Given the description of an element on the screen output the (x, y) to click on. 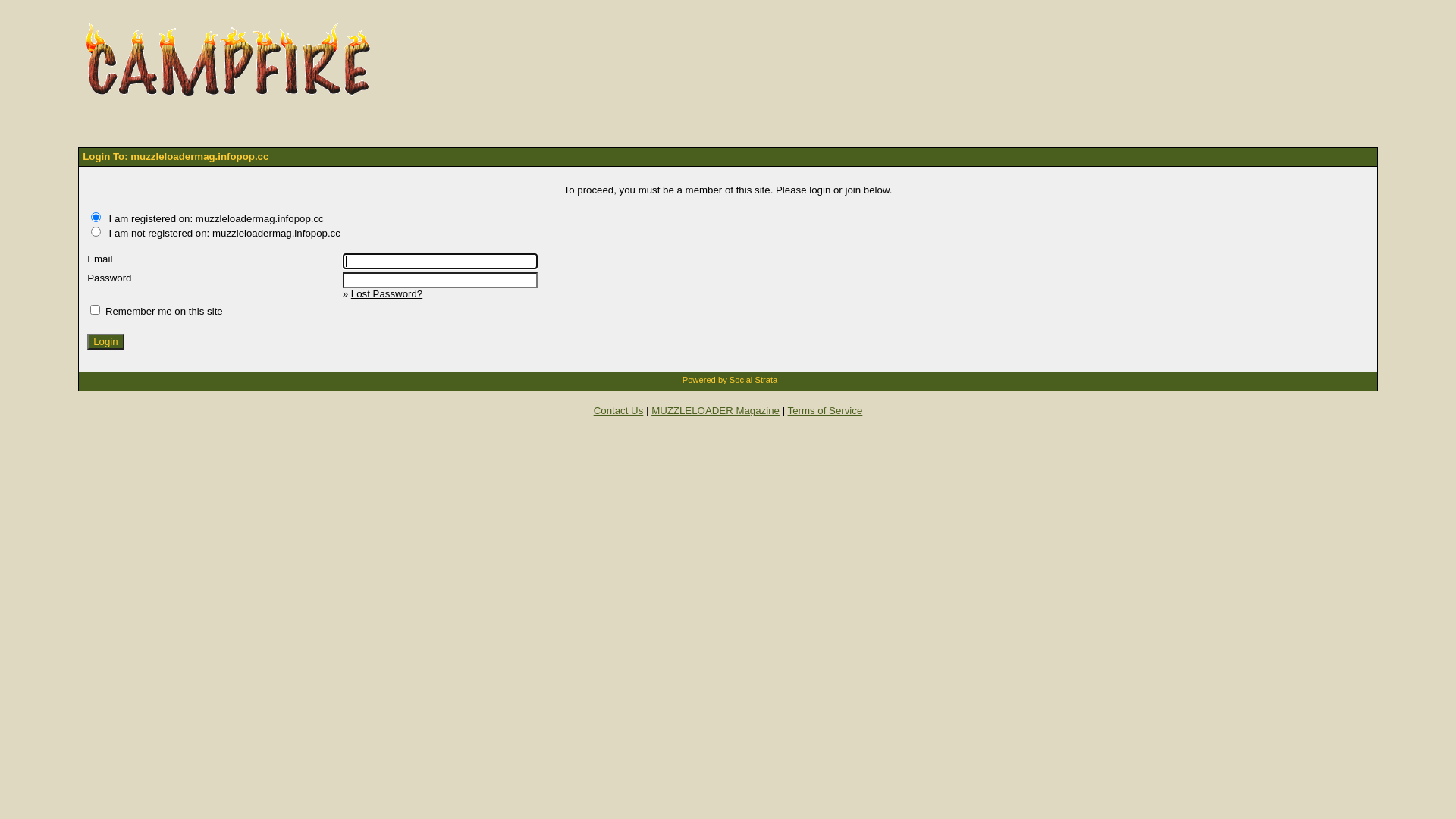
Powered by Social Strata Element type: text (730, 379)
Terms of Service Element type: text (824, 410)
on Element type: text (95, 217)
MUZZLELOADER Magazine Element type: text (715, 410)
Lost Password? Element type: text (386, 293)
Contact Us Element type: text (618, 410)
Login Element type: text (105, 341)
on Element type: text (95, 231)
